Given the description of an element on the screen output the (x, y) to click on. 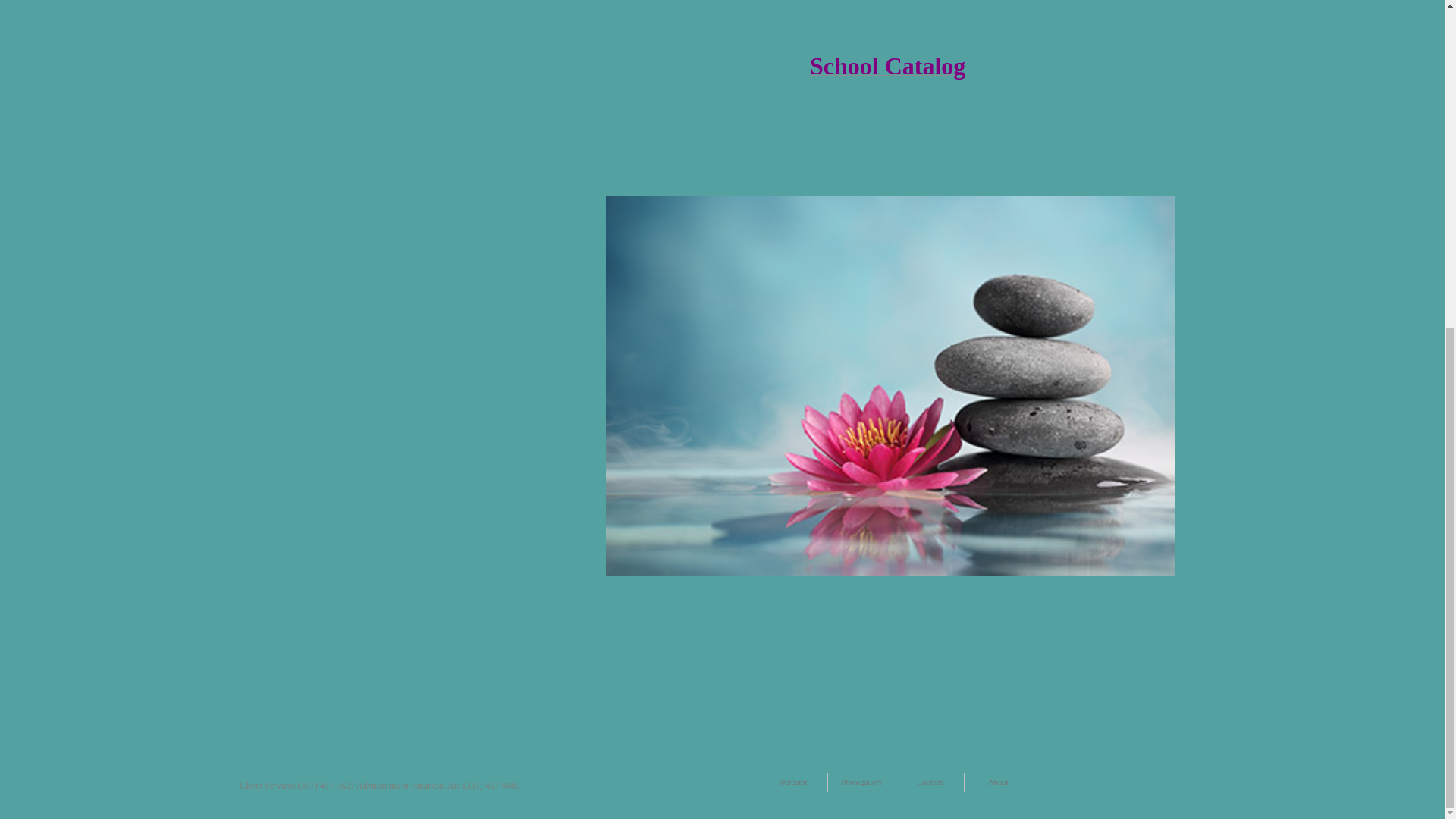
Photogallery (861, 782)
About (998, 782)
School Catalog (887, 71)
Courses (929, 782)
Welcome (792, 782)
